Given the description of an element on the screen output the (x, y) to click on. 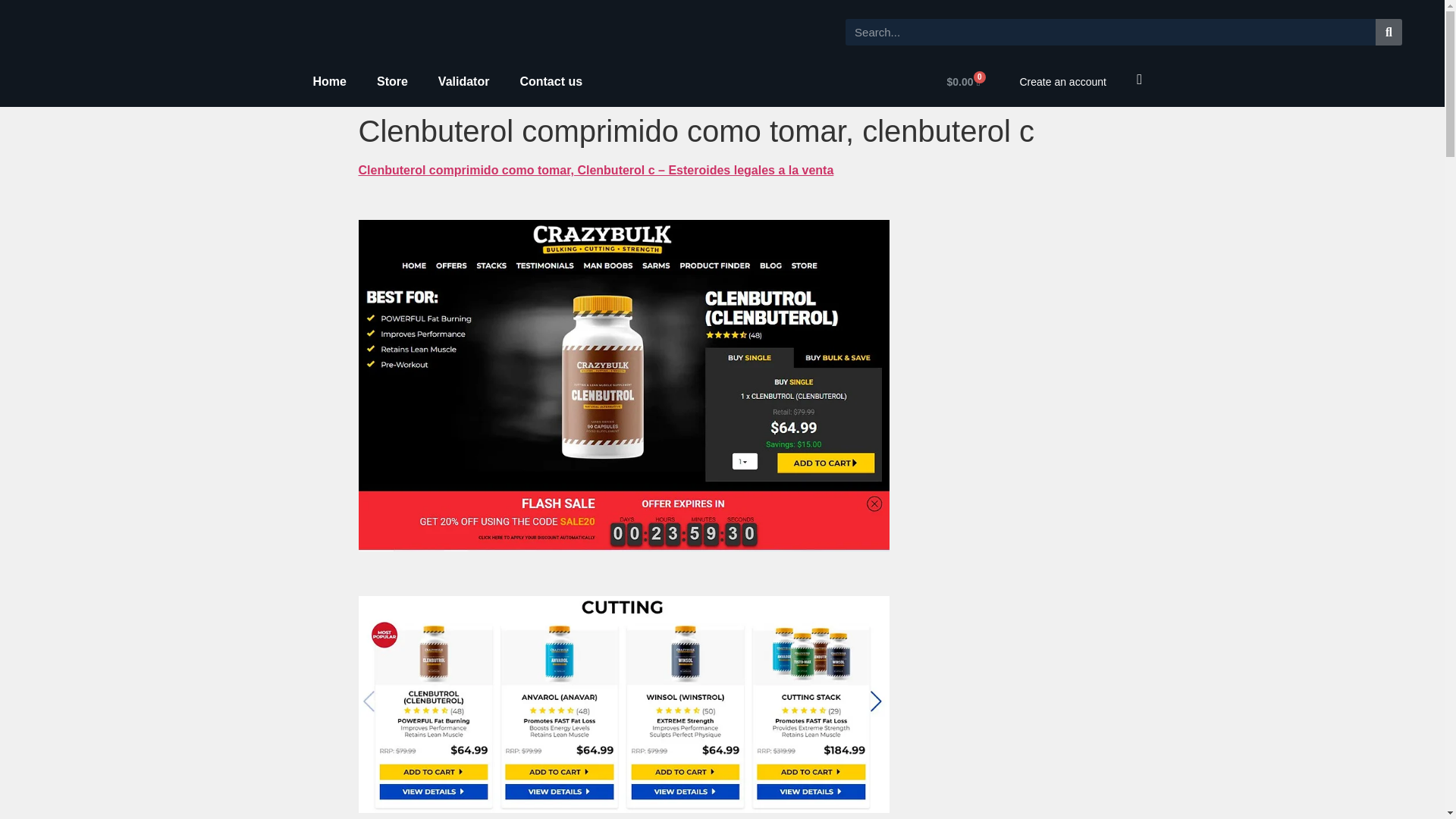
Home (329, 81)
Clenbuterol comprimido como tomar (623, 704)
Search (1388, 31)
Validator (464, 81)
Contact us (549, 81)
Search (1109, 31)
Create an account (1062, 81)
Store (392, 81)
